Given the description of an element on the screen output the (x, y) to click on. 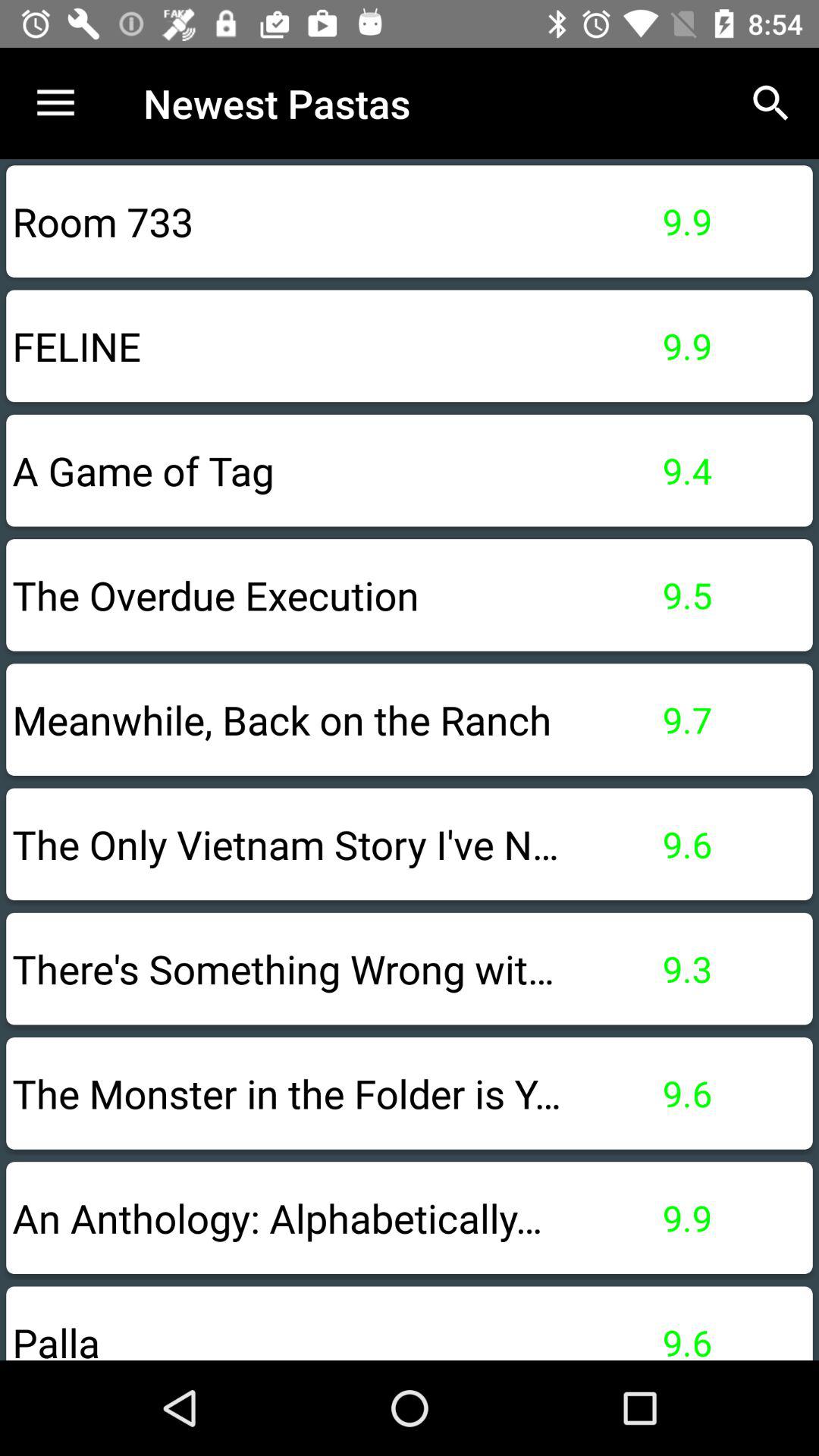
click icon next to newest pastas (55, 103)
